Given the description of an element on the screen output the (x, y) to click on. 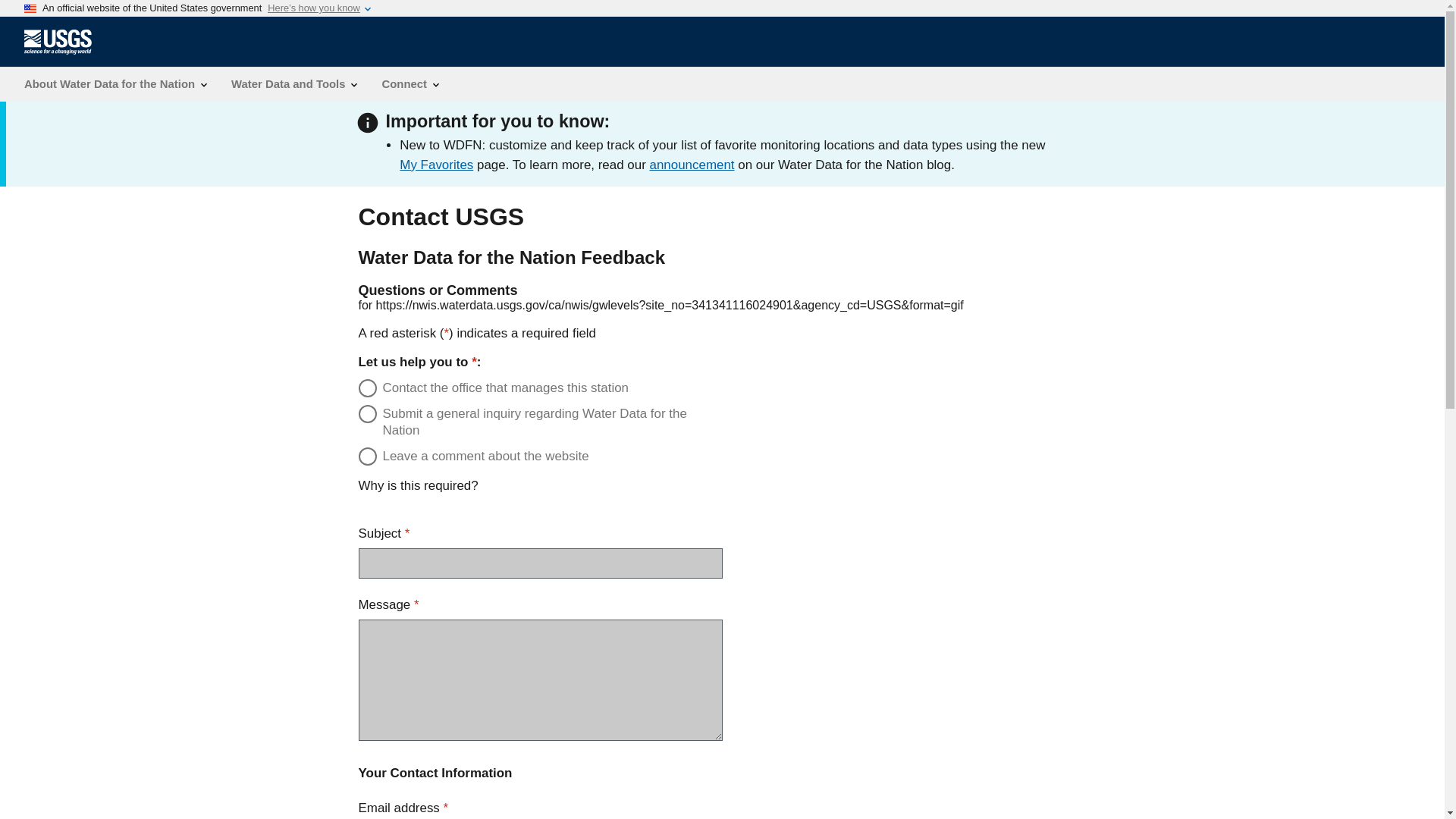
Connect (410, 84)
My Favorites (435, 164)
Dismiss site alert (1093, 125)
announcement (692, 164)
About Water Data for the Nation (115, 84)
Water Data and Tools (294, 84)
